Given the description of an element on the screen output the (x, y) to click on. 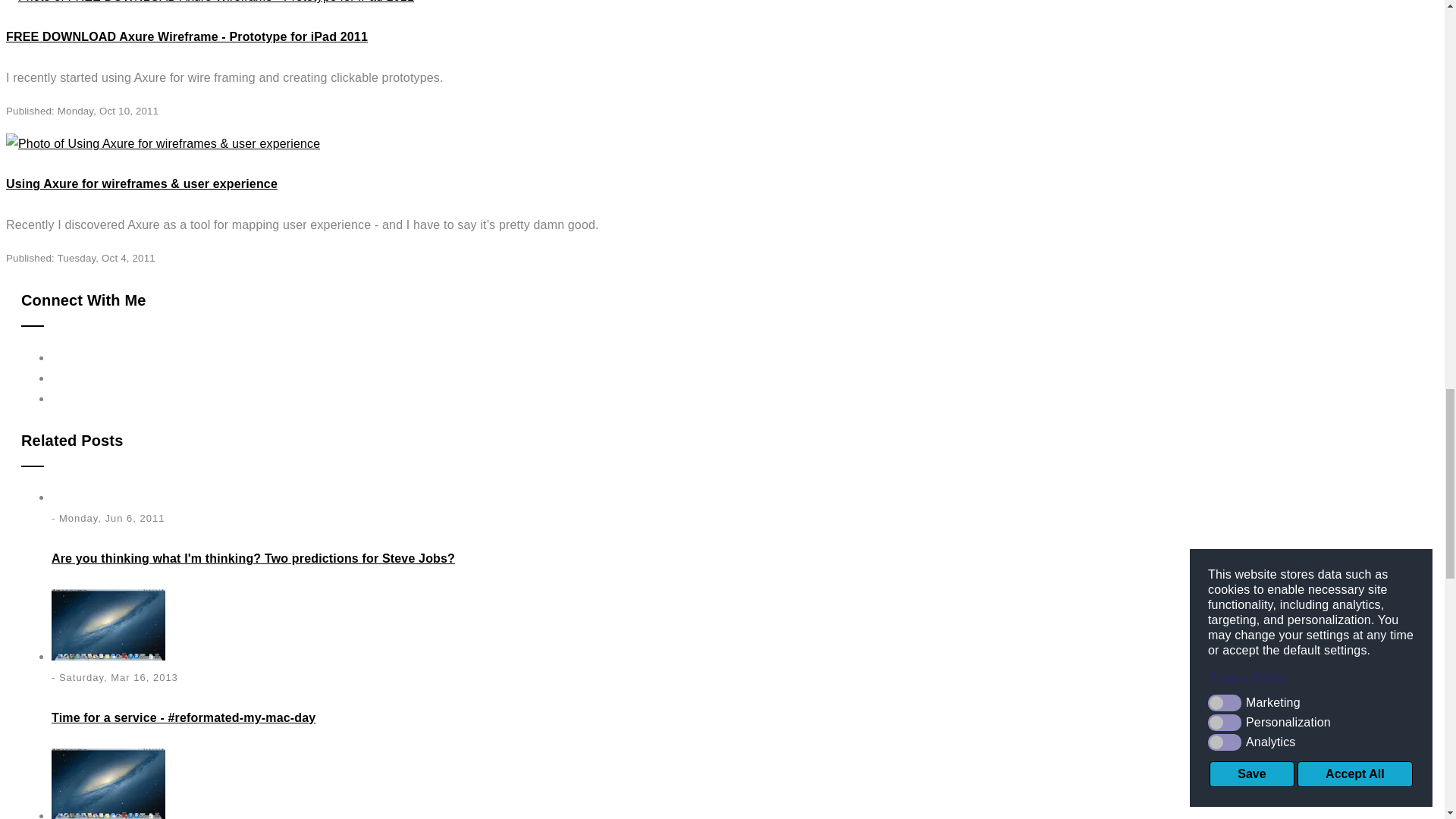
New Mac Desktop (107, 783)
New Mac Desktop (107, 624)
FREE DOWNLOAD Axure Wireframe - Prototype for iPad 2011 (186, 36)
